Given the description of an element on the screen output the (x, y) to click on. 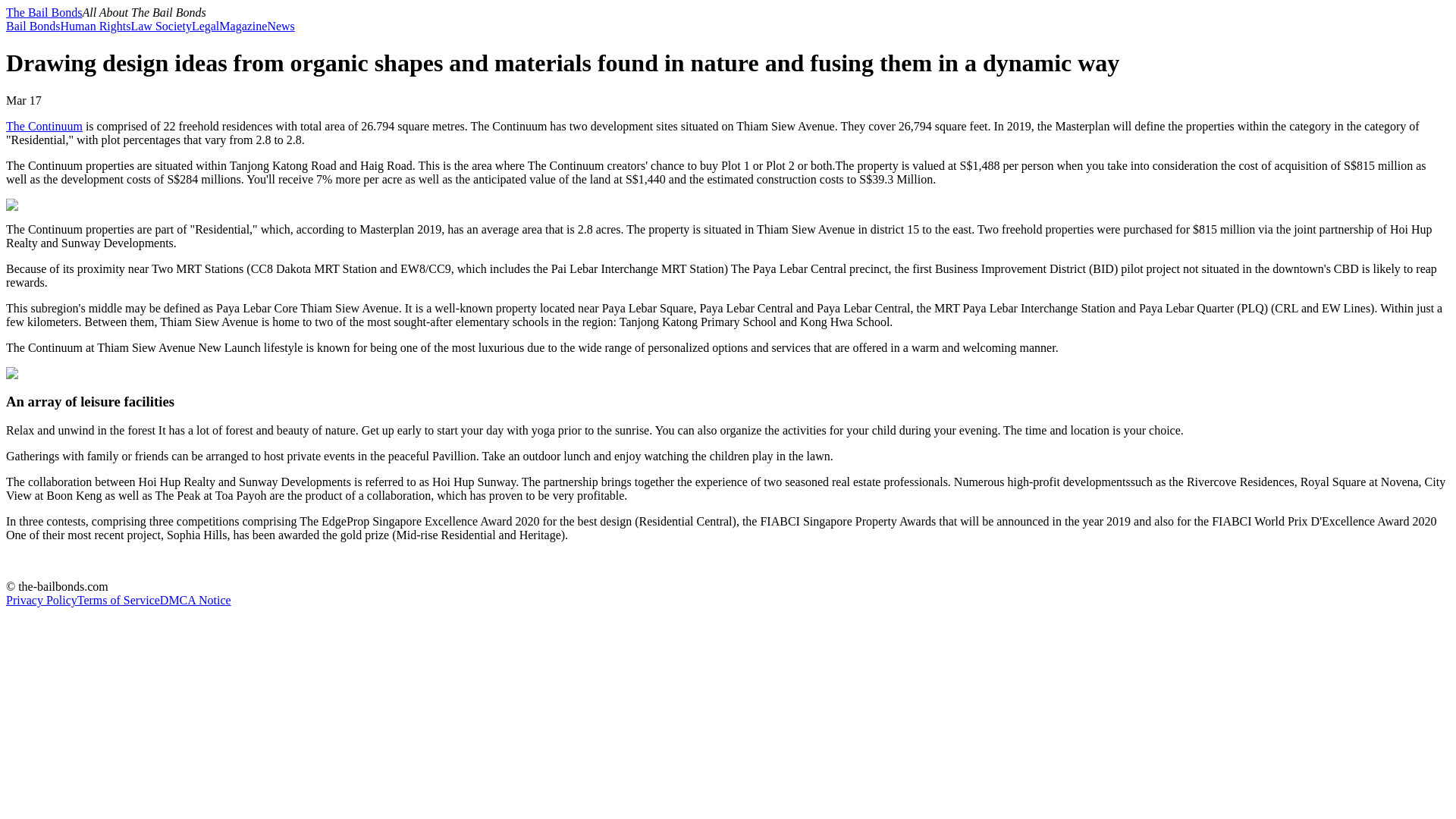
Legal (205, 25)
News (280, 25)
The Bail Bonds (43, 11)
Human Rights (96, 25)
Law Society (160, 25)
The Continuum (43, 125)
Bail Bonds (33, 25)
Magazine (242, 25)
